Given the description of an element on the screen output the (x, y) to click on. 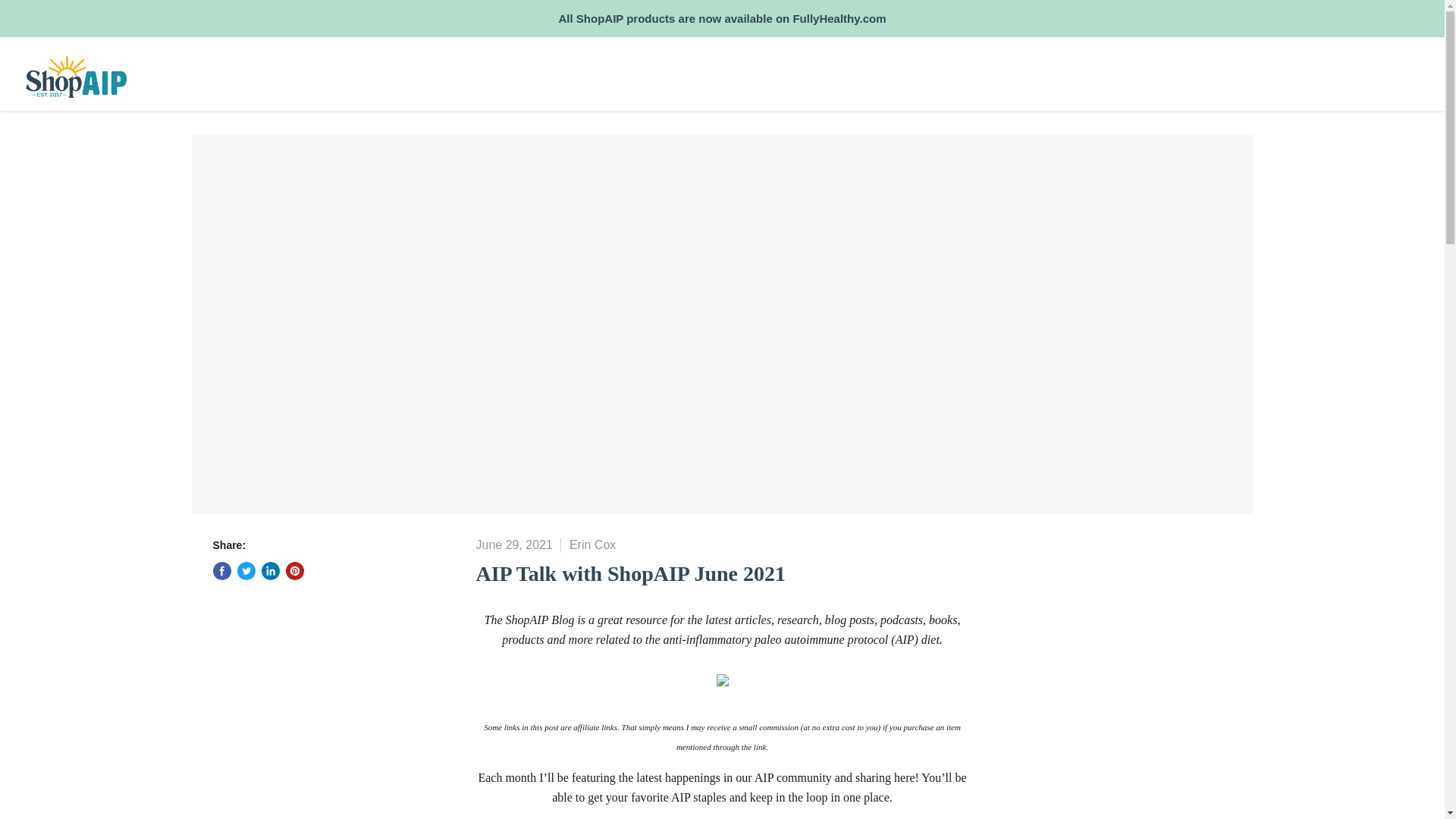
Pin on Pinterest (293, 570)
Share on LinkedIn (269, 570)
Share on Facebook (221, 570)
Tweet on Twitter (244, 570)
